Given the description of an element on the screen output the (x, y) to click on. 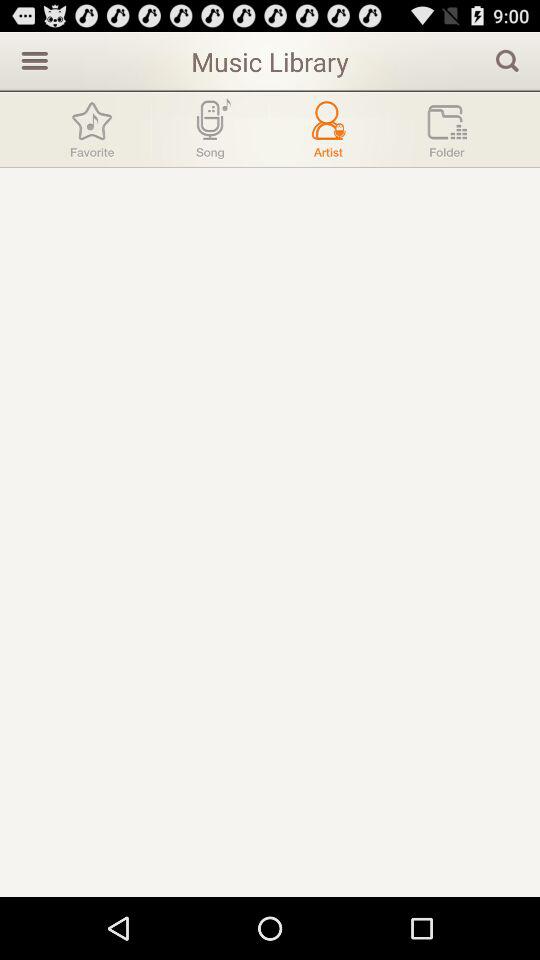
artist menu (328, 129)
